Given the description of an element on the screen output the (x, y) to click on. 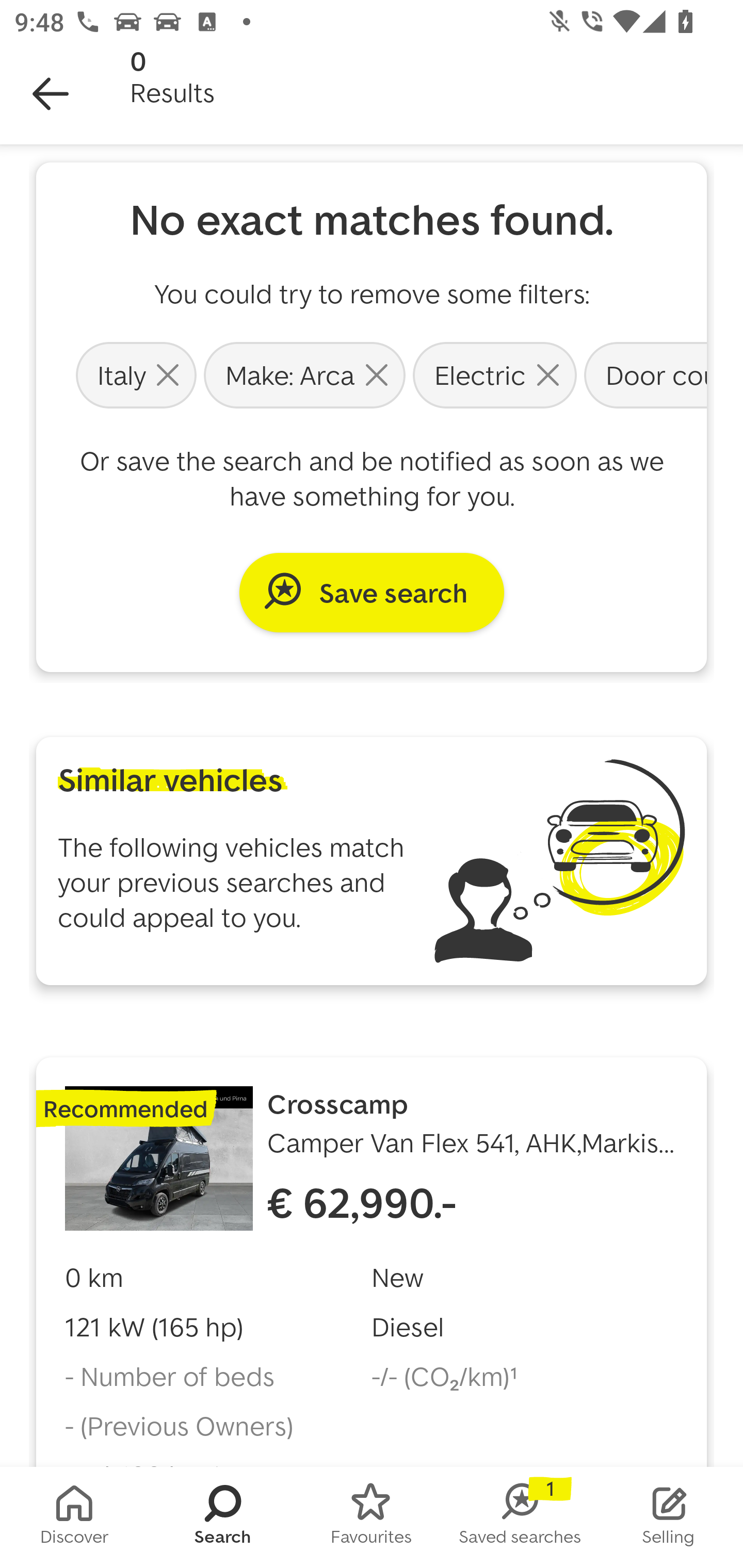
Navigate up (50, 93)
Italy (135, 374)
Make: Arca (304, 374)
Electric (494, 374)
Door count: from 6 to 7 (643, 374)
Save search (371, 592)
HOMESCREEN Discover (74, 1517)
SEARCH Search (222, 1517)
FAVORITES Favourites (371, 1517)
SAVED_SEARCHES Saved searches 1 (519, 1517)
STOCK_LIST Selling (668, 1517)
